Given the description of an element on the screen output the (x, y) to click on. 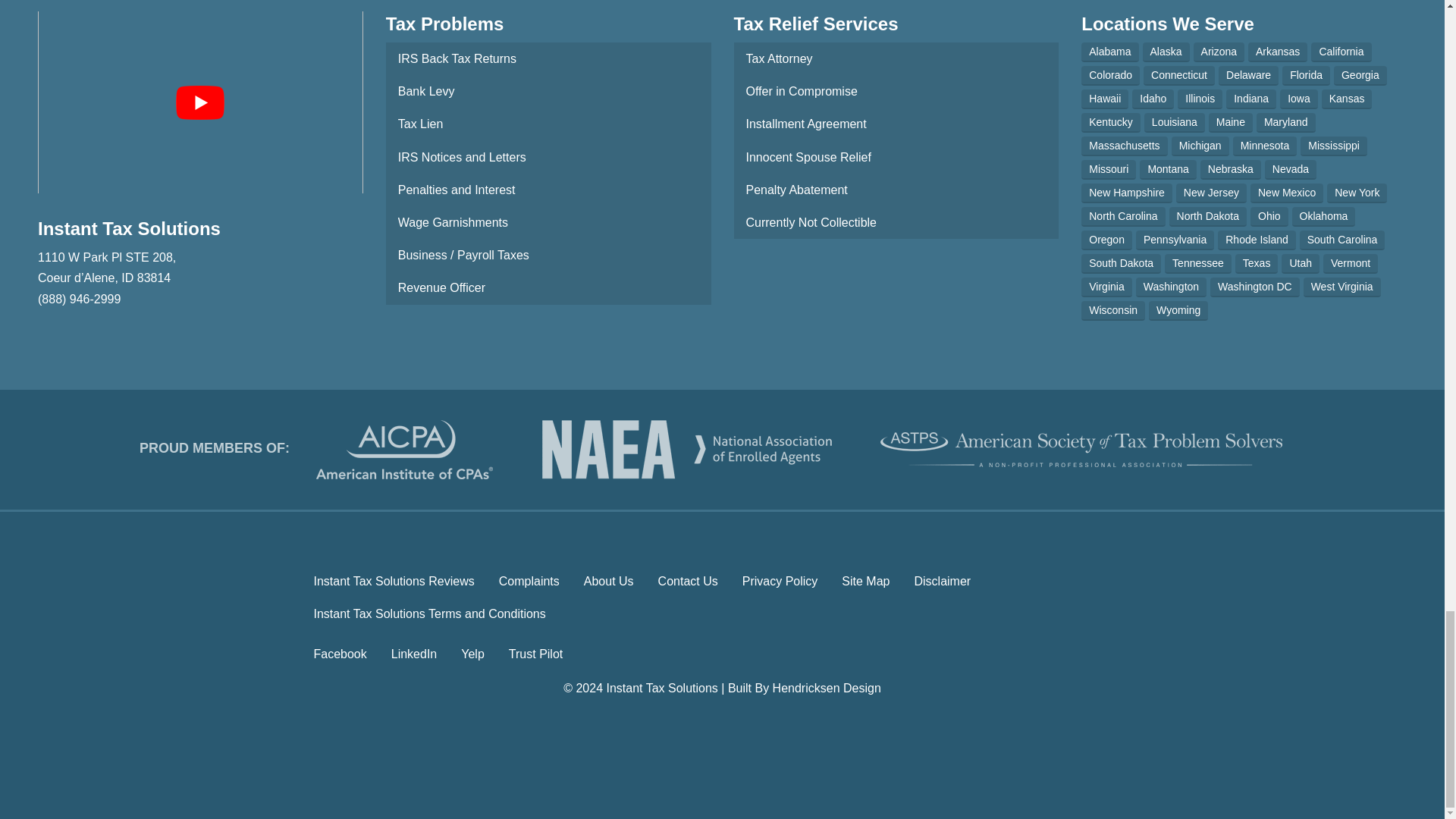
Alaska (1165, 52)
Alabama (1109, 52)
Arizona (1218, 52)
Colorado (1110, 75)
California (1341, 52)
Arkansas (1277, 52)
